Given the description of an element on the screen output the (x, y) to click on. 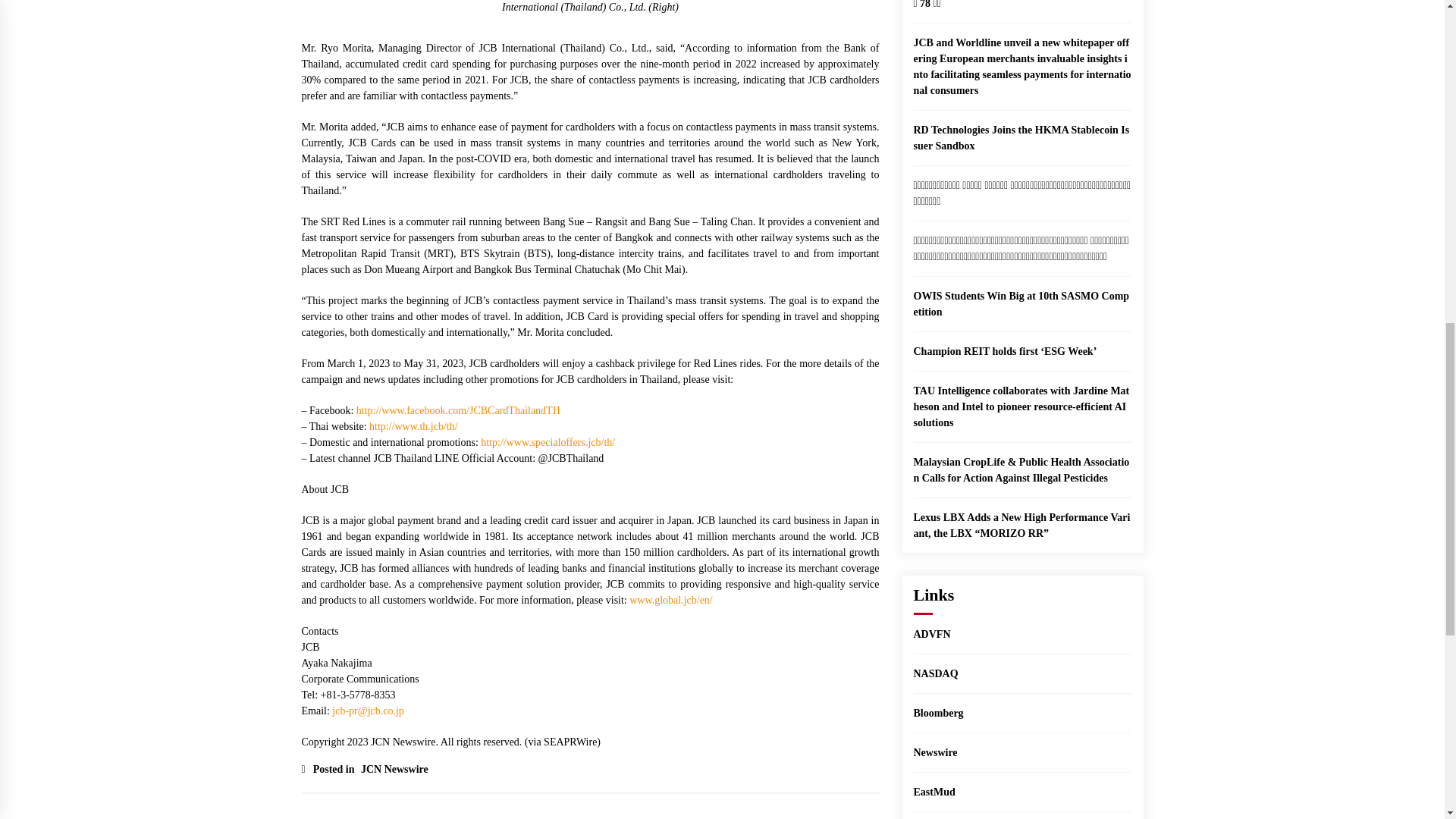
JCN Newswire (392, 769)
OWIS Students Win Big at 10th SASMO Competition (1020, 303)
RD Technologies Joins the HKMA Stablecoin Issuer Sandbox (1020, 137)
